Given the description of an element on the screen output the (x, y) to click on. 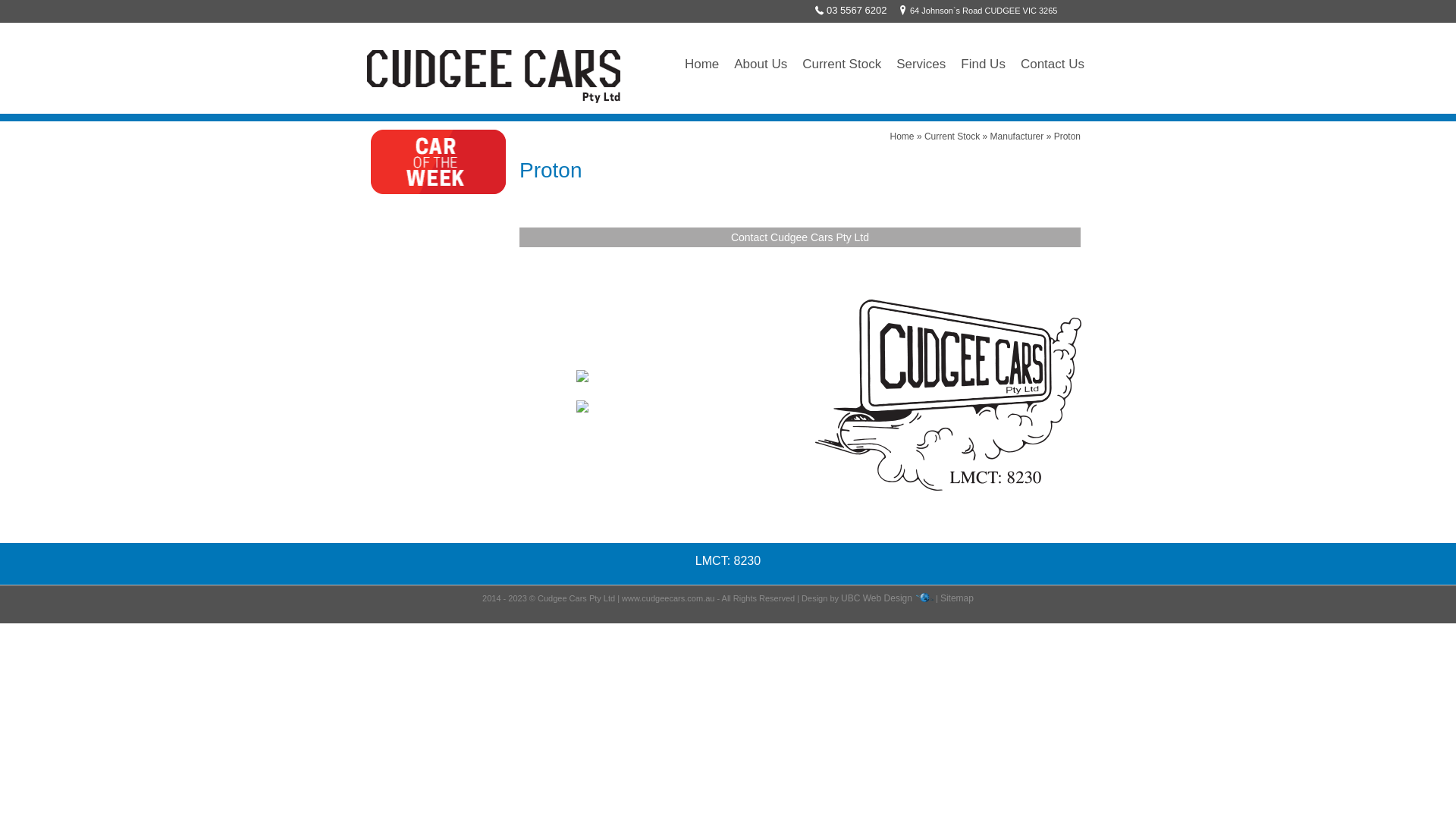
Current Stock Element type: text (841, 63)
Home Element type: text (701, 63)
Proton Element type: text (1067, 136)
Brakes Element type: text (385, 366)
About Us Element type: text (760, 63)
UBC Web Design Element type: text (876, 598)
Cudgee Cars Pty Ltd Element type: hover (947, 394)
Manufacturer Element type: text (1017, 136)
Current Stock Element type: text (951, 136)
Home Element type: text (902, 136)
Contact Us Element type: text (1052, 63)
Cudgee Cars Pty Ltd Element type: hover (494, 74)
Scan Tool & Diagnostic Work Element type: text (429, 403)
Services Element type: text (920, 63)
Wrecking Element type: text (390, 475)
Find Us Element type: text (983, 63)
Auto Air Conditioning Element type: text (414, 439)
Key Cutting & Programming Element type: text (428, 421)
  64 Johnson`s Road CUDGEE VIC 3265 Element type: text (670, 383)
Contact Cudgee Cars Pty Ltd Element type: text (800, 236)
Sitemap Element type: text (956, 598)
`Like` us on Facebook Element type: text (645, 455)
sales@cudgeecars.com.au Element type: text (671, 405)
Towing/Freight Element type: text (401, 457)
64 Johnson`s Road CUDGEE VIC 3265 Element type: text (975, 10)
Servicing/Mechanical Work Element type: text (426, 348)
Roadworthy Testing - Auto & Motorcycle's Element type: text (455, 384)
Deal of the Week Element type: hover (438, 161)
